Given the description of an element on the screen output the (x, y) to click on. 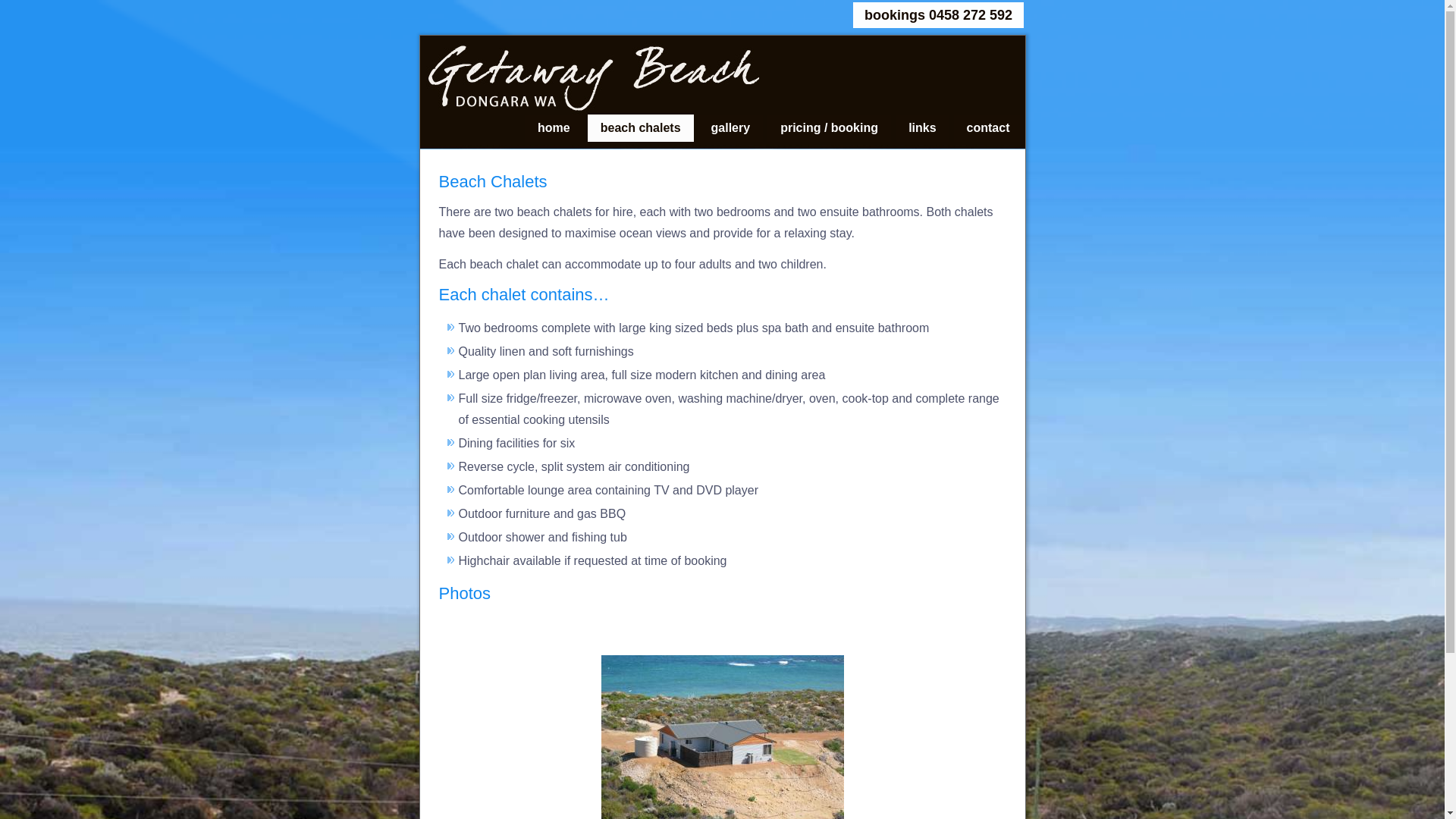
0458 272 592 Element type: text (970, 14)
gallery Element type: text (730, 127)
contact Element type: text (987, 127)
links Element type: text (921, 127)
beach chalets Element type: text (640, 127)
pricing / booking Element type: text (829, 127)
home Element type: text (553, 127)
